Given the description of an element on the screen output the (x, y) to click on. 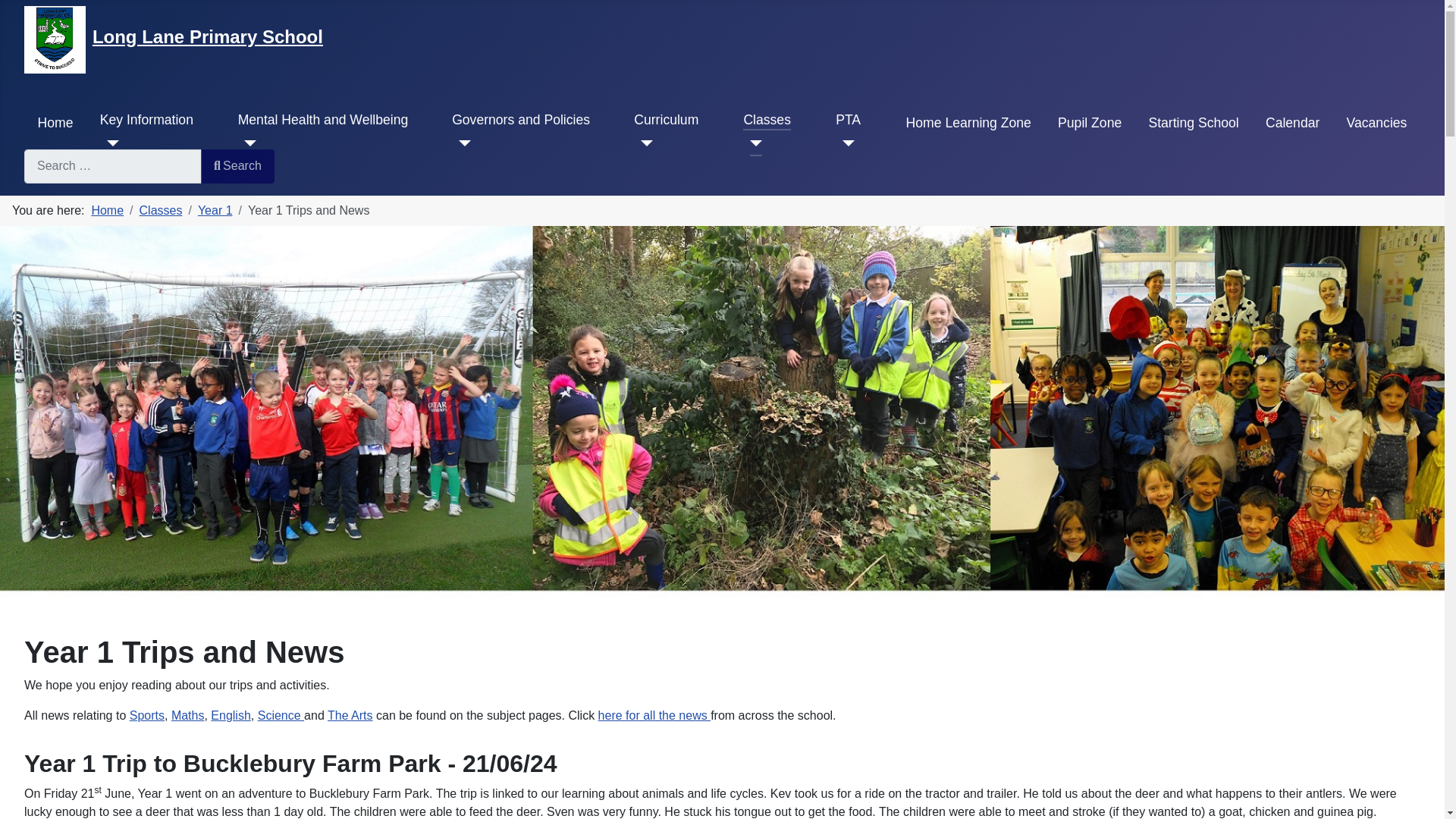
Long Lane Primary School (208, 36)
Mental Health and Wellbeing (323, 119)
Key Information (146, 119)
Curriculum (665, 119)
Home (55, 122)
Governors and Policies (520, 119)
